Given the description of an element on the screen output the (x, y) to click on. 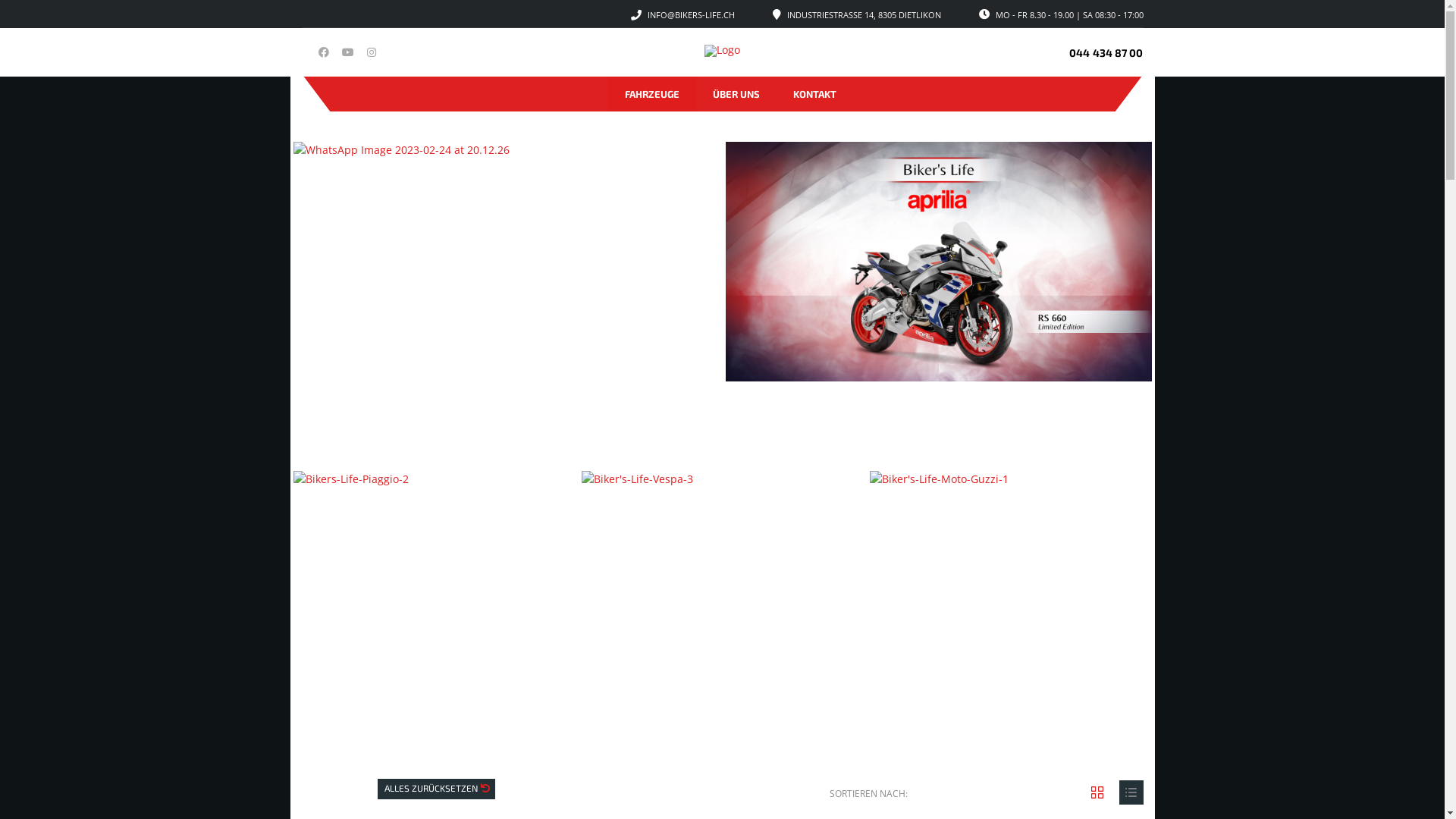
Bikers-Life-Piaggio-2 Element type: hover (433, 549)
Biker's-Life-Vespa-3 Element type: hover (721, 549)
Startseite Element type: hover (722, 50)
044 434 87 00 Element type: text (1105, 52)
Biker's-Life-Aprilia-1 Element type: hover (937, 261)
FAHRZEUGE Element type: text (652, 93)
INFO@BIKERS-LIFE.CH Element type: text (690, 14)
WhatsApp Image 2023-02-24 at 20.12.26 Element type: hover (505, 261)
Biker's-Life-Moto-Guzzi-1 Element type: hover (1010, 549)
KONTAKT Element type: text (814, 93)
